Given the description of an element on the screen output the (x, y) to click on. 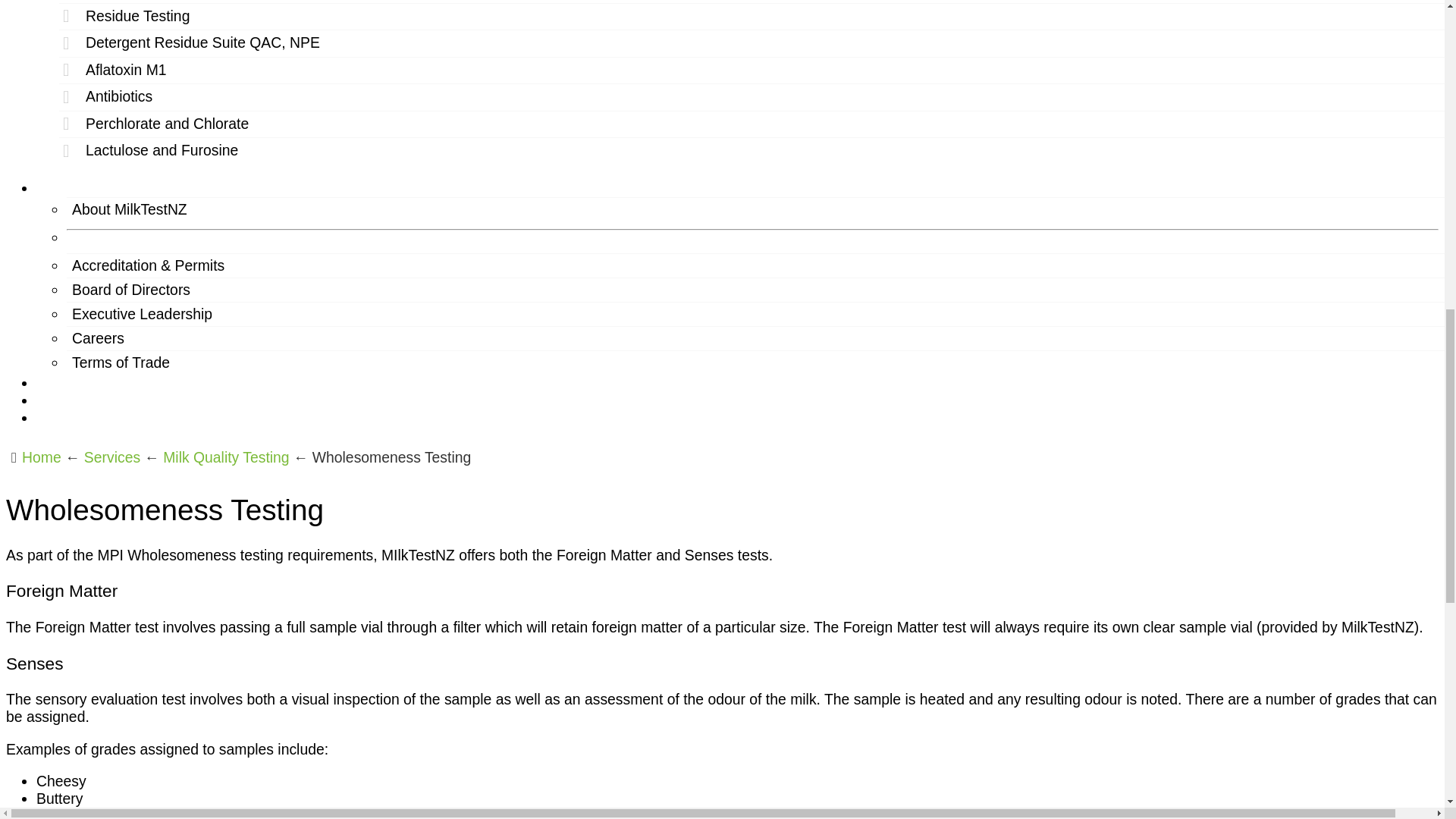
Terms of Trade (757, 362)
About MilkTestNZ (757, 209)
Residue Testing (757, 16)
Detergent Residue Suite QAC, NPE (757, 42)
Lactulose and Furosine (757, 150)
About (55, 187)
Antibiotics (757, 96)
Executive Leadership (757, 313)
Careers (757, 337)
Board of Directors (757, 289)
Perchlorate and Chlorate (757, 124)
Aflatoxin M1 (757, 70)
